Given the description of an element on the screen output the (x, y) to click on. 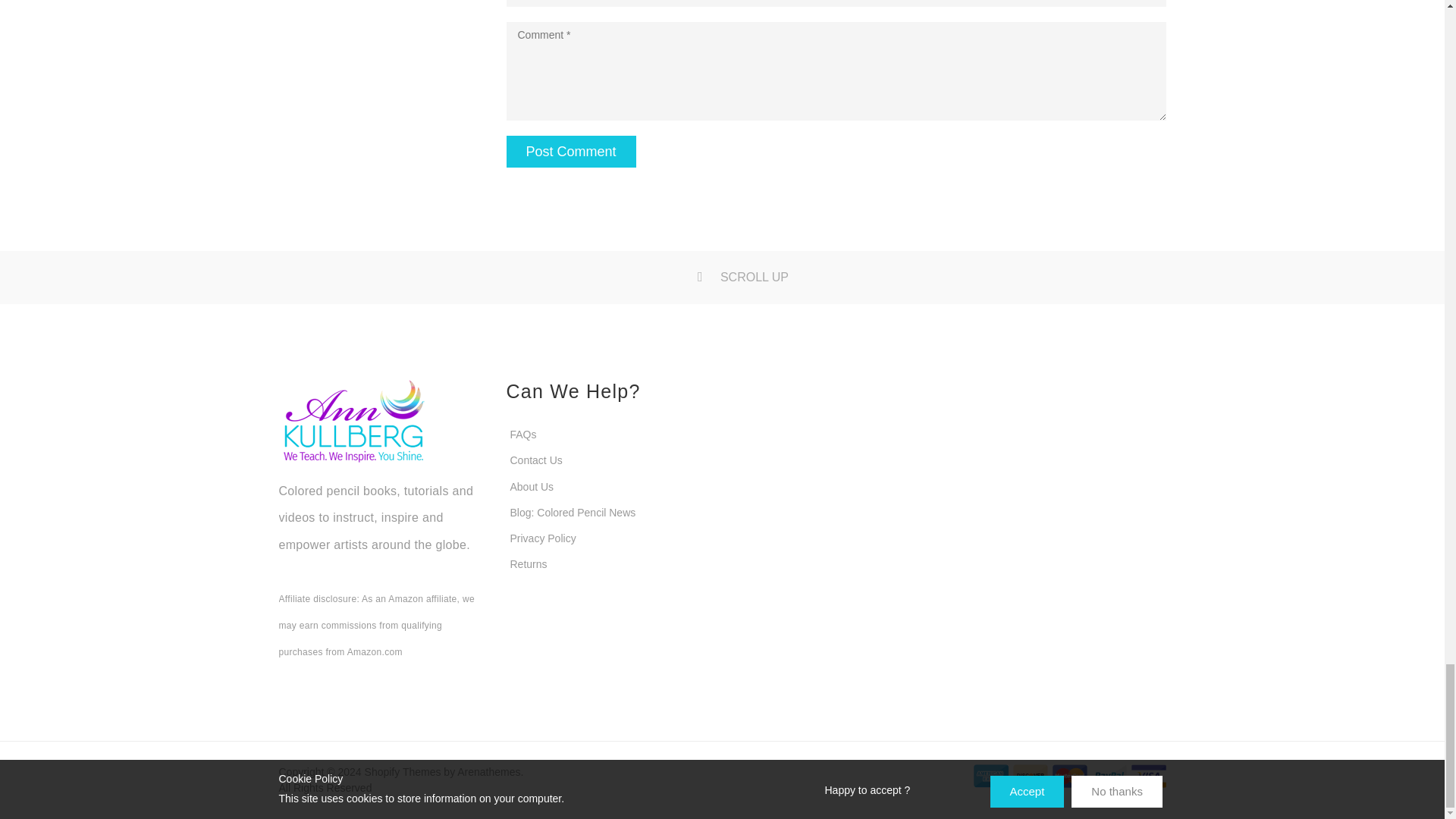
SCROLL UP (722, 276)
